Given the description of an element on the screen output the (x, y) to click on. 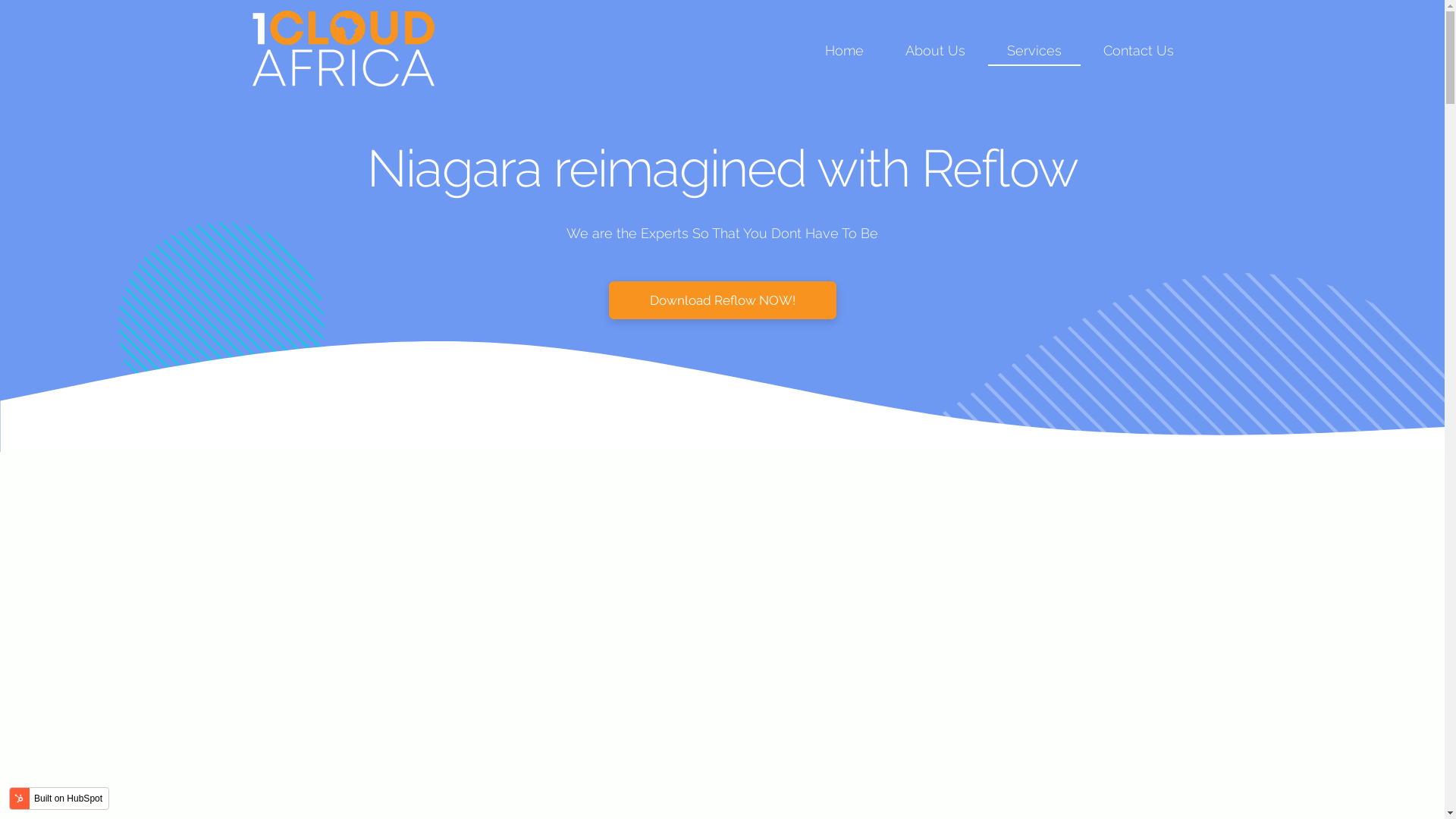
Services Element type: text (1034, 49)
Home Element type: text (844, 49)
1CLOUD AFRICA white Element type: hover (342, 48)
About Us Element type: text (935, 49)
Download Reflow NOW! Element type: text (721, 300)
Contact Us Element type: text (1137, 49)
